Given the description of an element on the screen output the (x, y) to click on. 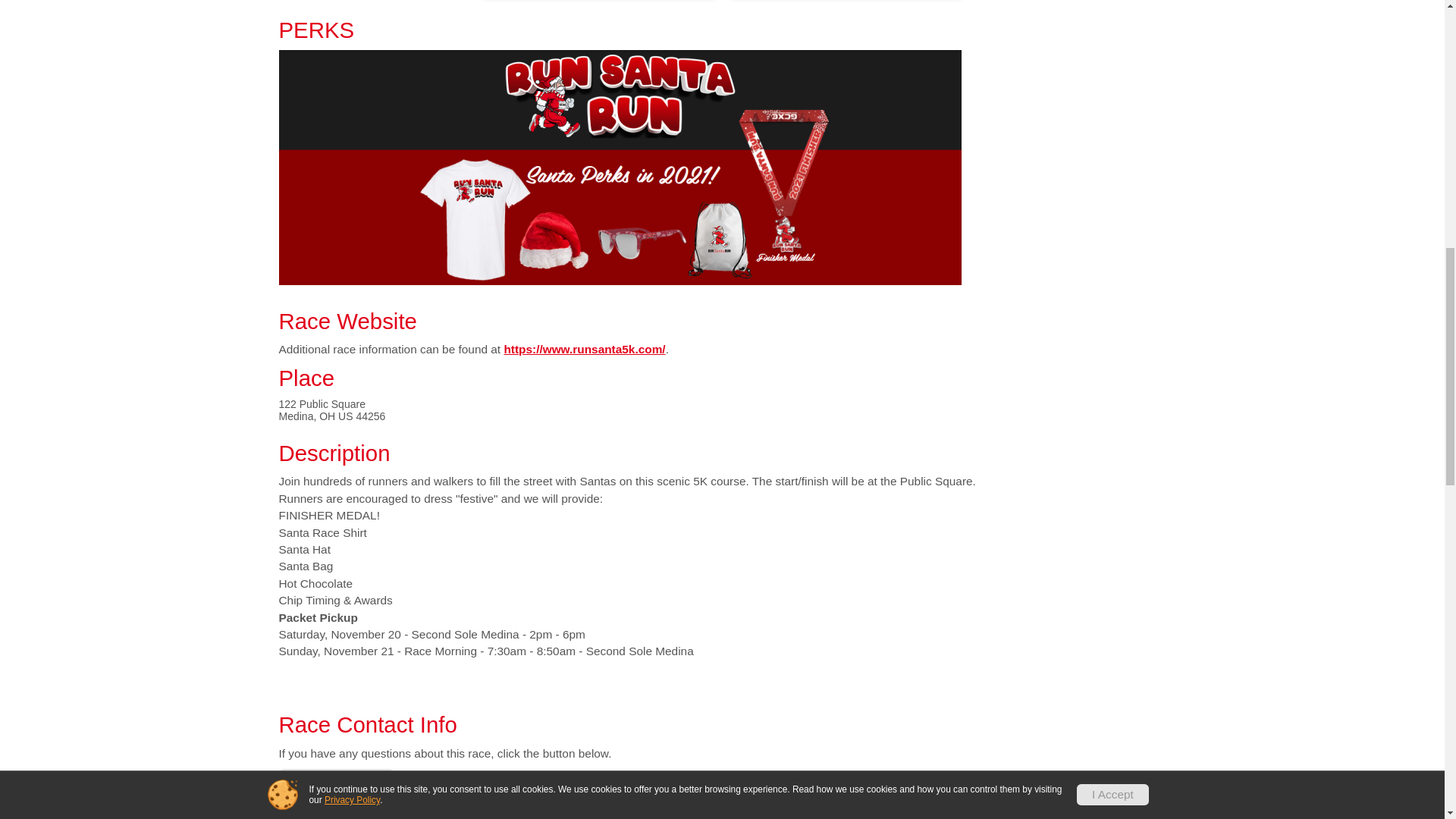
Questions? (336, 782)
